Given the description of an element on the screen output the (x, y) to click on. 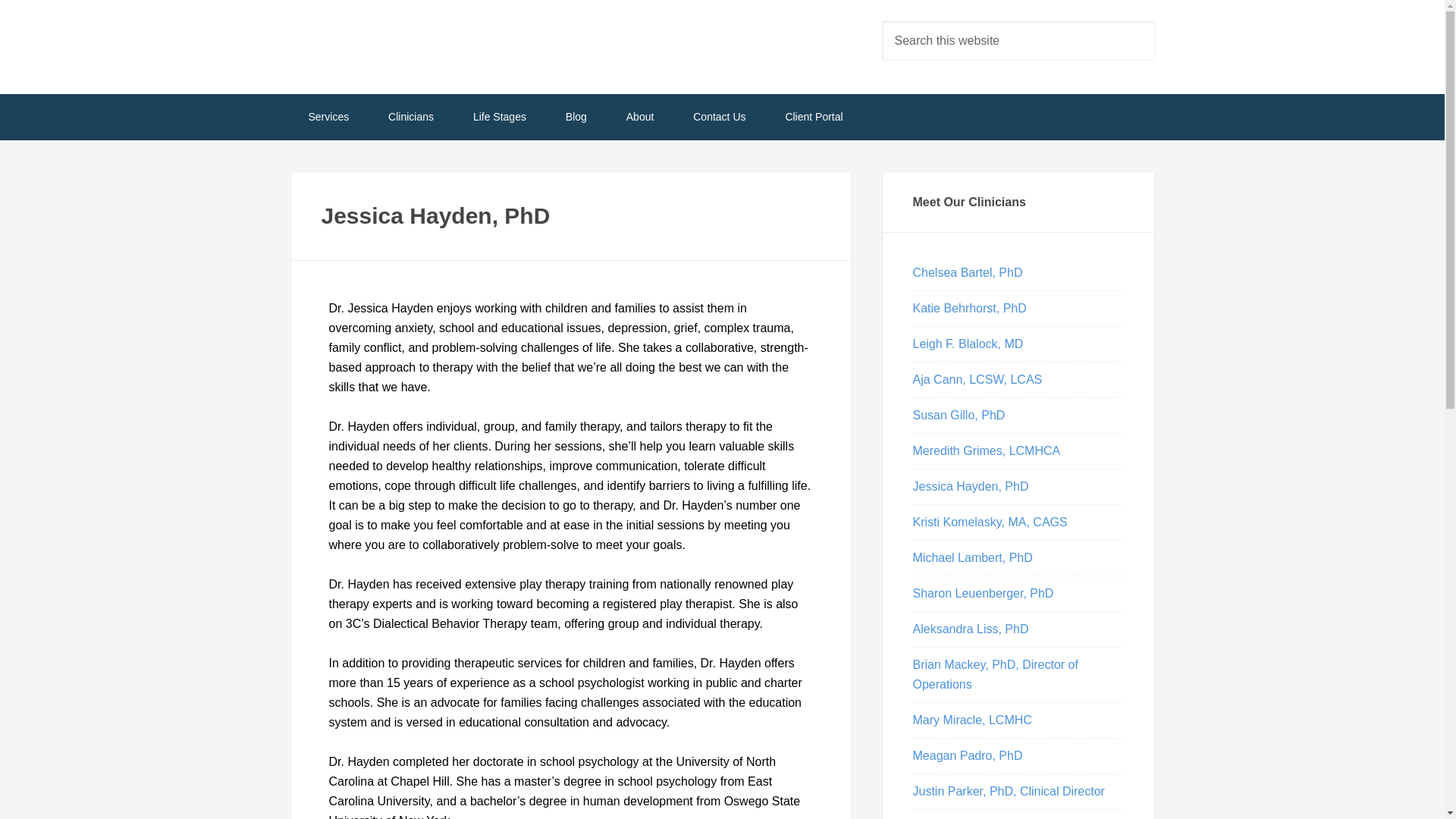
Contact Us (718, 117)
Life Stages (499, 117)
Leigh F. Blalock, MD (967, 343)
Services (327, 117)
Client Portal (813, 117)
3-C Family Services (410, 45)
Chelsea Bartel, PhD (967, 272)
Clinicians (410, 117)
Katie Behrhorst, PhD (969, 308)
Blog (576, 117)
About (640, 117)
